Given the description of an element on the screen output the (x, y) to click on. 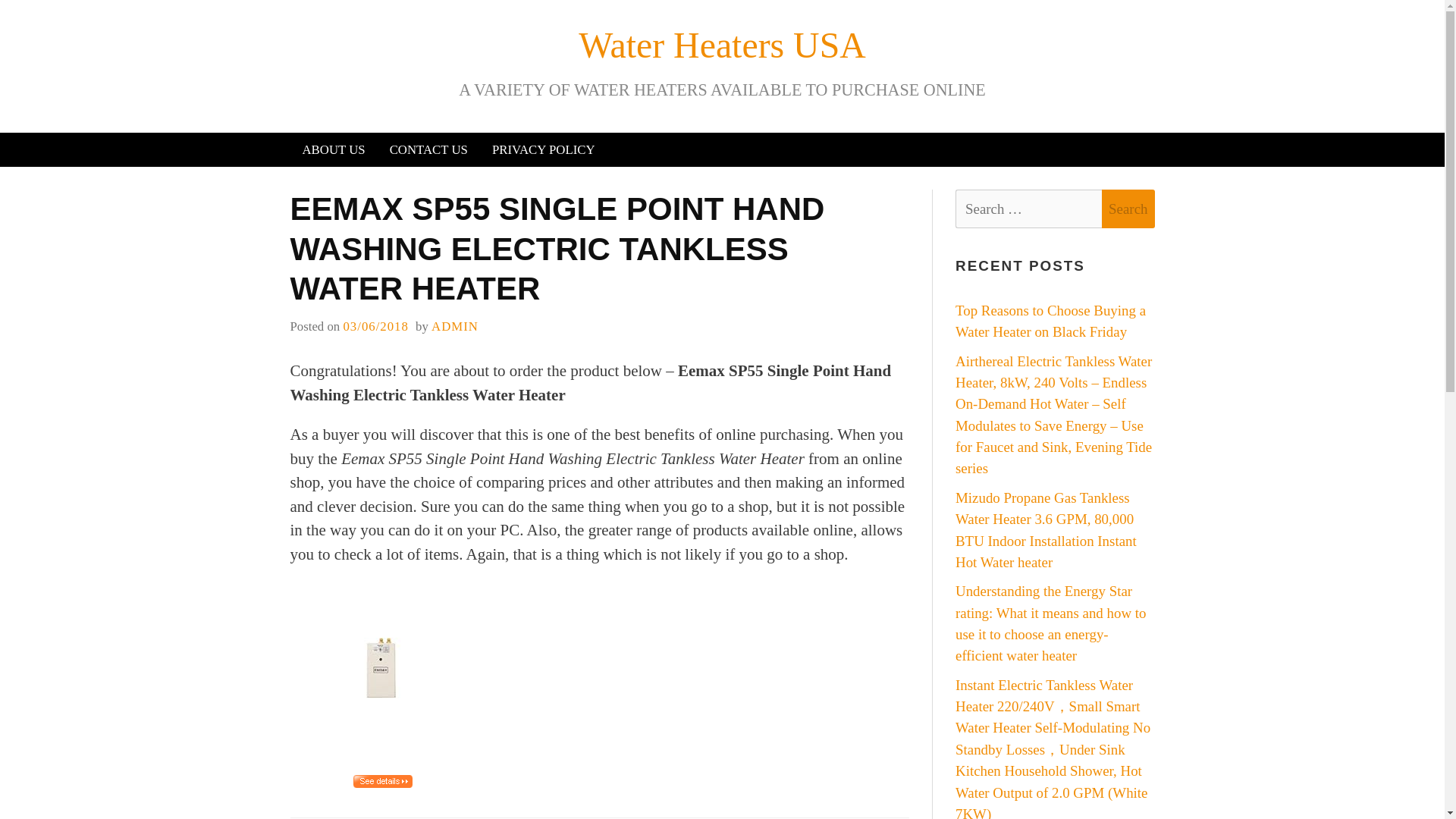
ABOUT US (333, 149)
Water Heaters USA (722, 45)
CONTACT US (428, 149)
Search (1128, 208)
Search (1128, 208)
ADMIN (454, 326)
PRIVACY POLICY (543, 149)
Top Reasons to Choose Buying a Water Heater on Black Friday (1050, 320)
Search (1128, 208)
